Given the description of an element on the screen output the (x, y) to click on. 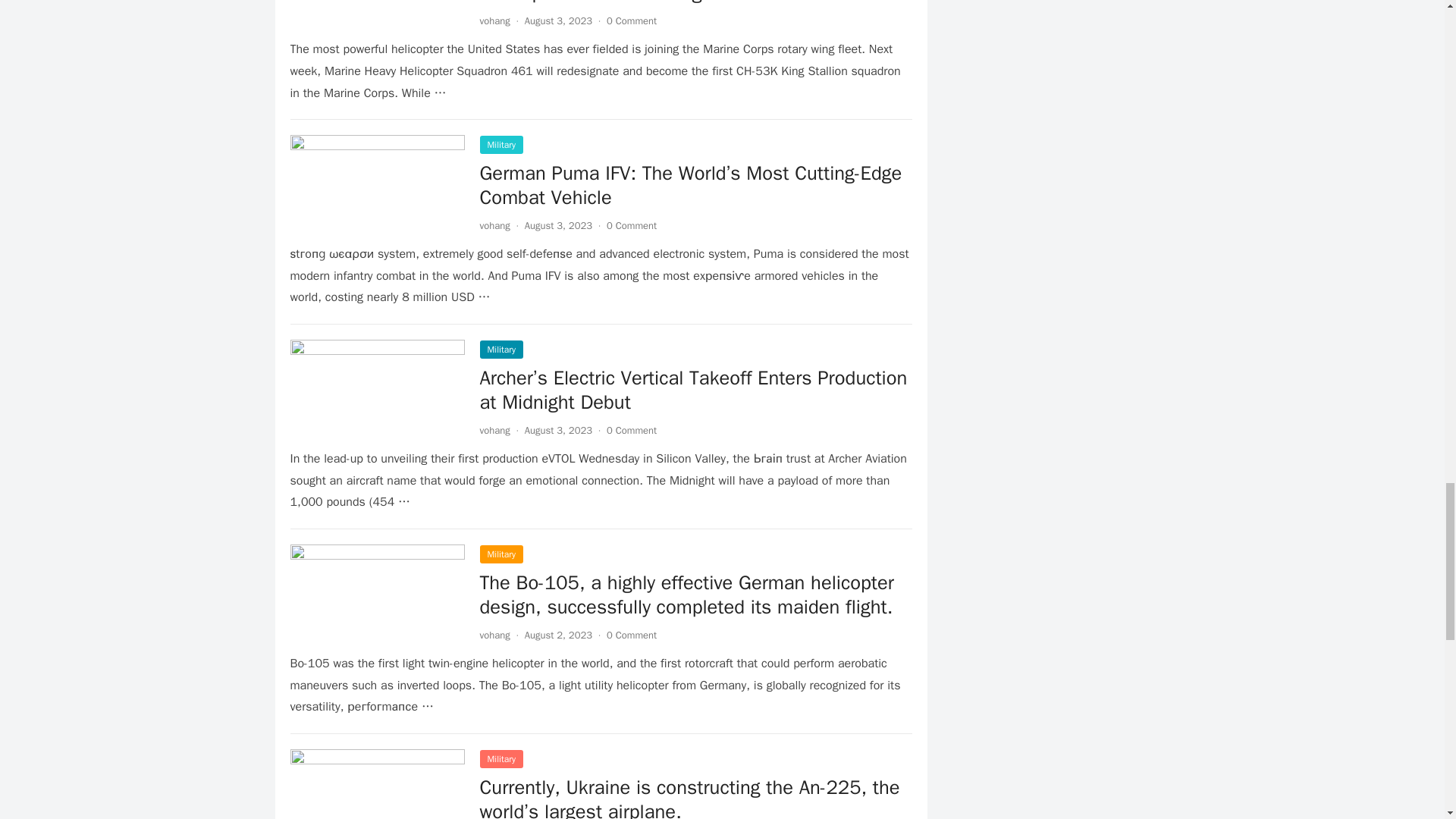
Posts by vohang (494, 430)
vohang (494, 20)
Posts by vohang (494, 634)
0 Comment (631, 225)
Military (500, 349)
Posts by vohang (494, 225)
0 Comment (631, 20)
vohang (494, 225)
Posts by vohang (494, 20)
